Given the description of an element on the screen output the (x, y) to click on. 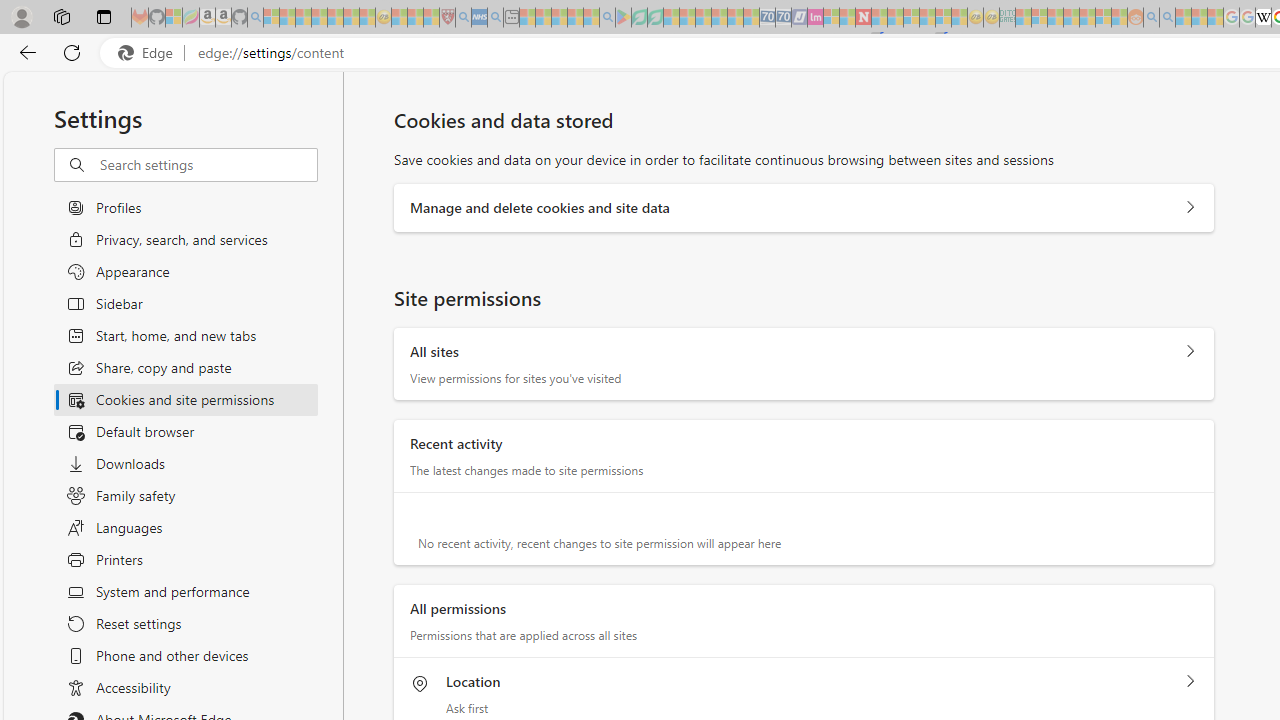
Terms of Use Agreement - Sleeping (639, 17)
Pets - MSN - Sleeping (575, 17)
